Given the description of an element on the screen output the (x, y) to click on. 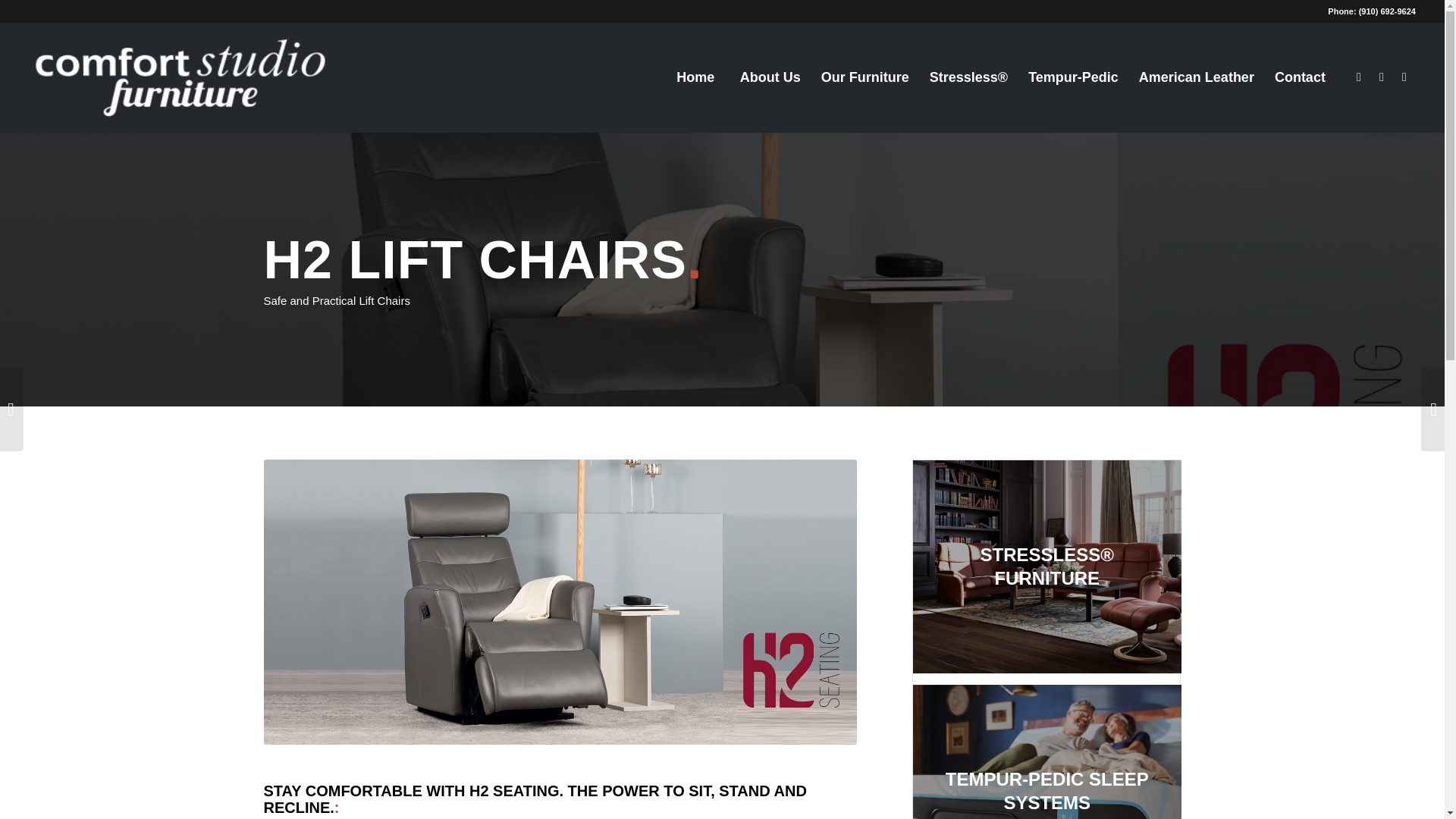
Tempur-Pedic Sleep Systems (1052, 751)
TEMPUR-PEDIC SLEEP SYSTEMS (1052, 751)
American Leather (1195, 77)
Tempur-Pedic Sleep Systems (1046, 751)
Instagram (1381, 76)
Our Furniture (864, 77)
Tempur-Pedic (1072, 77)
Facebook (1359, 76)
Mail (1404, 76)
